Given the description of an element on the screen output the (x, y) to click on. 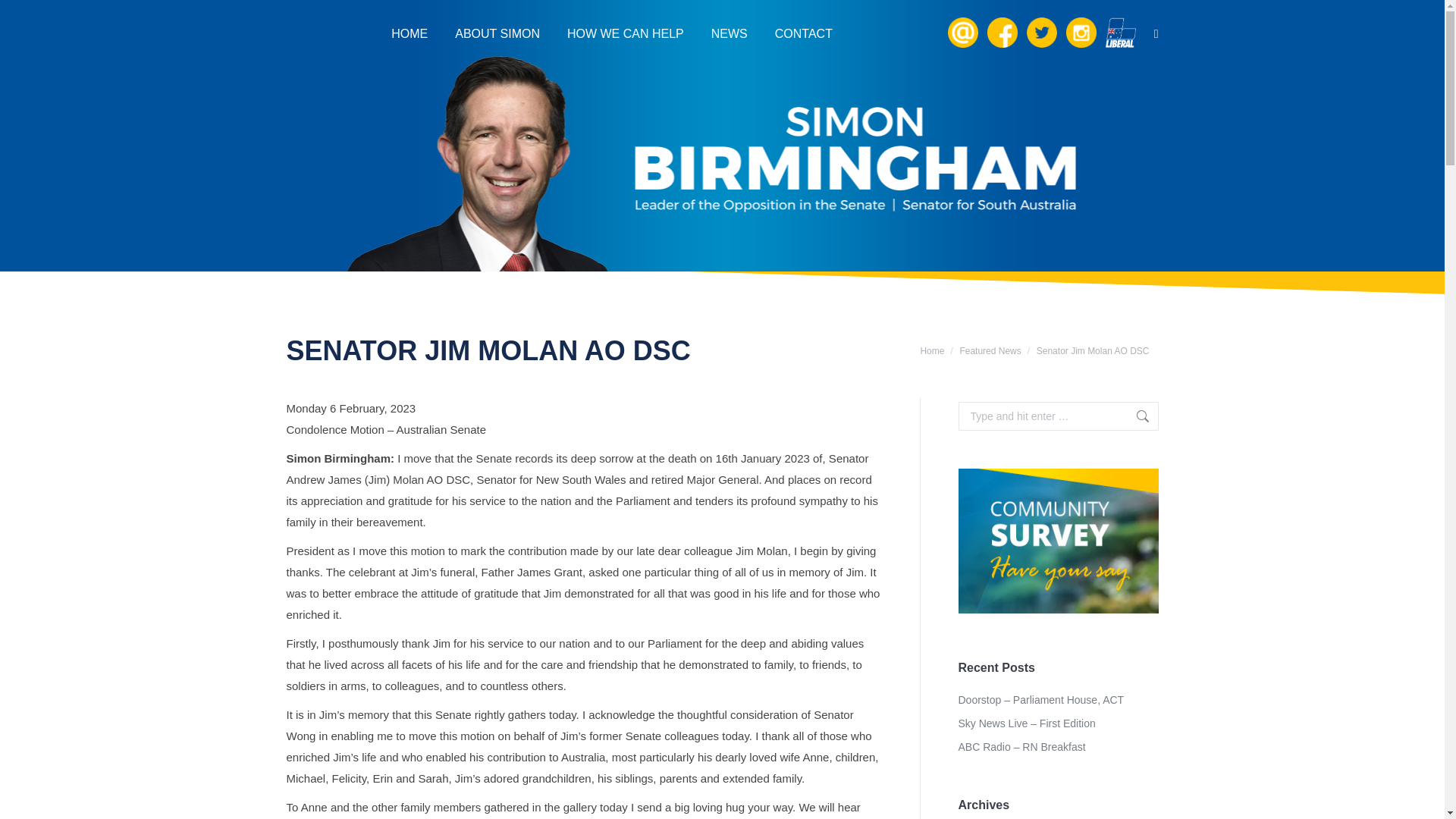
CONTACT (803, 33)
Go! (23, 15)
ABOUT SIMON (497, 33)
Home (931, 350)
HOW WE CAN HELP (625, 33)
Go! (1135, 416)
Featured News (989, 350)
HOME (409, 33)
Go! (1135, 416)
NEWS (729, 33)
